Given the description of an element on the screen output the (x, y) to click on. 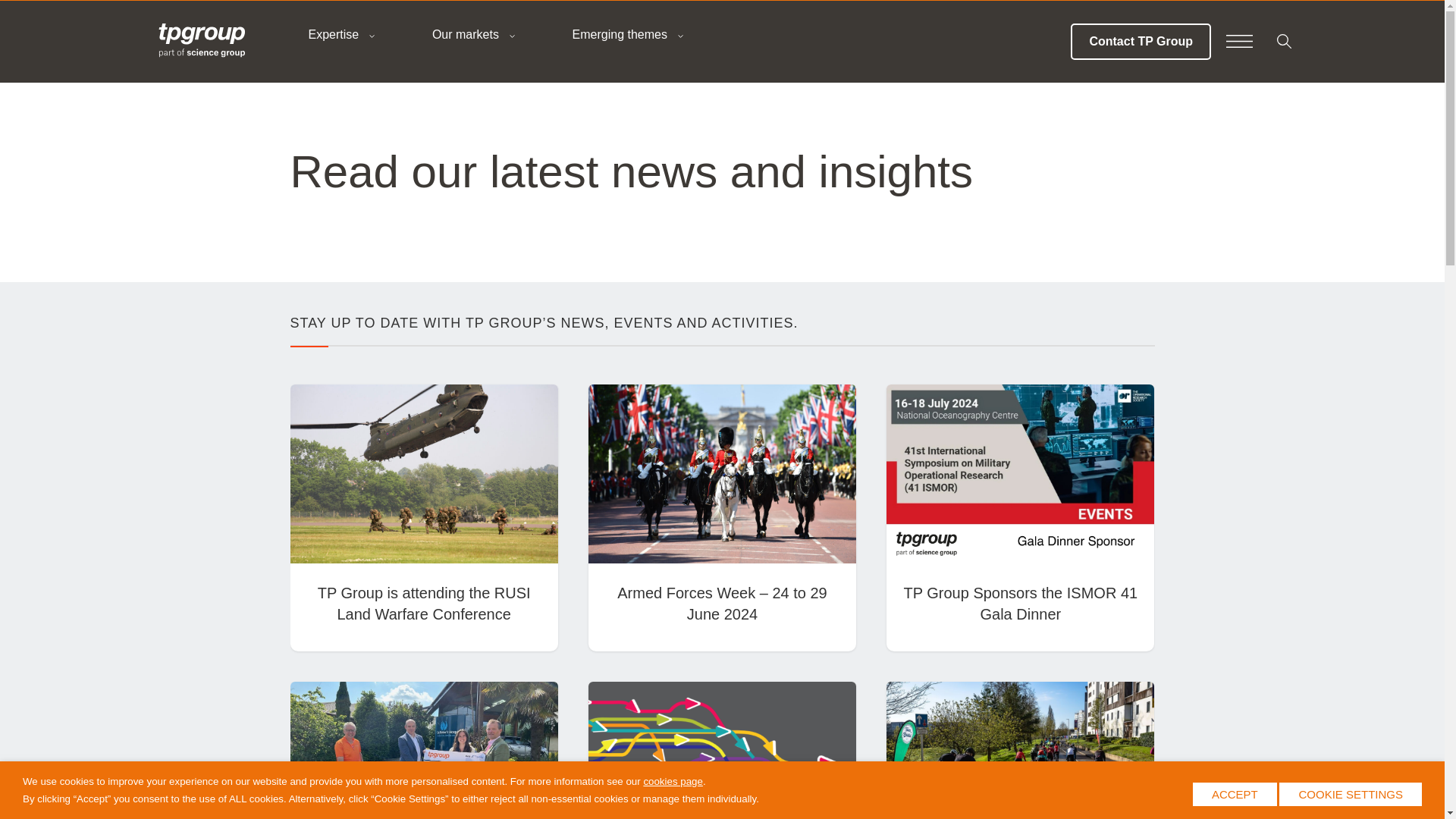
Expertise (337, 34)
TP Group Sponsors the ISMOR 41 Gala Dinner (1019, 603)
TP Group is attending the RUSI Land Warfare Conference (424, 603)
Our markets (470, 34)
